Given the description of an element on the screen output the (x, y) to click on. 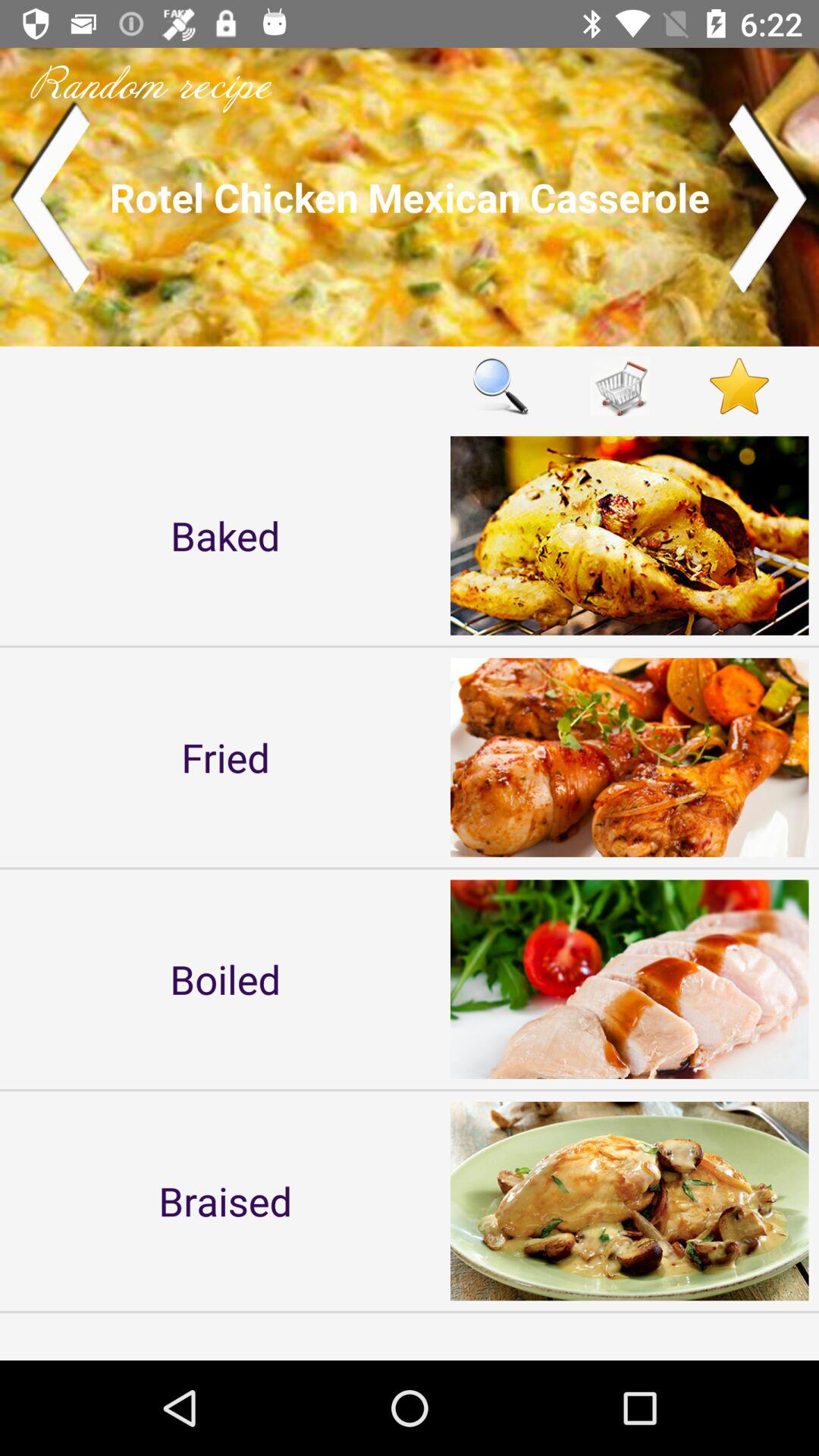
changes picture back (49, 196)
